Given the description of an element on the screen output the (x, y) to click on. 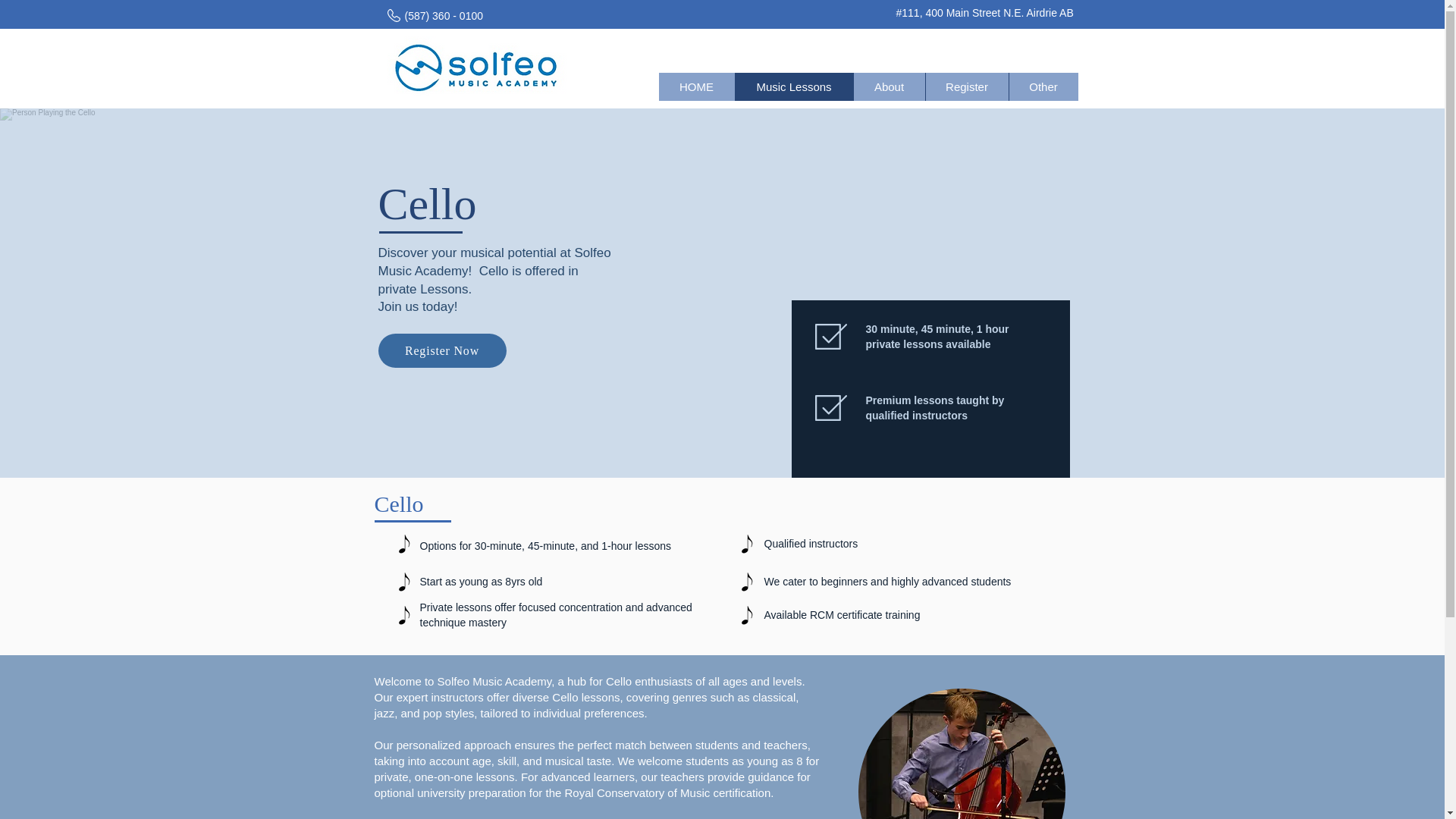
Music Lessons (792, 86)
Register Now (441, 350)
Register (966, 86)
About (887, 86)
HOME (695, 86)
PerformanceCello.png (962, 753)
